Given the description of an element on the screen output the (x, y) to click on. 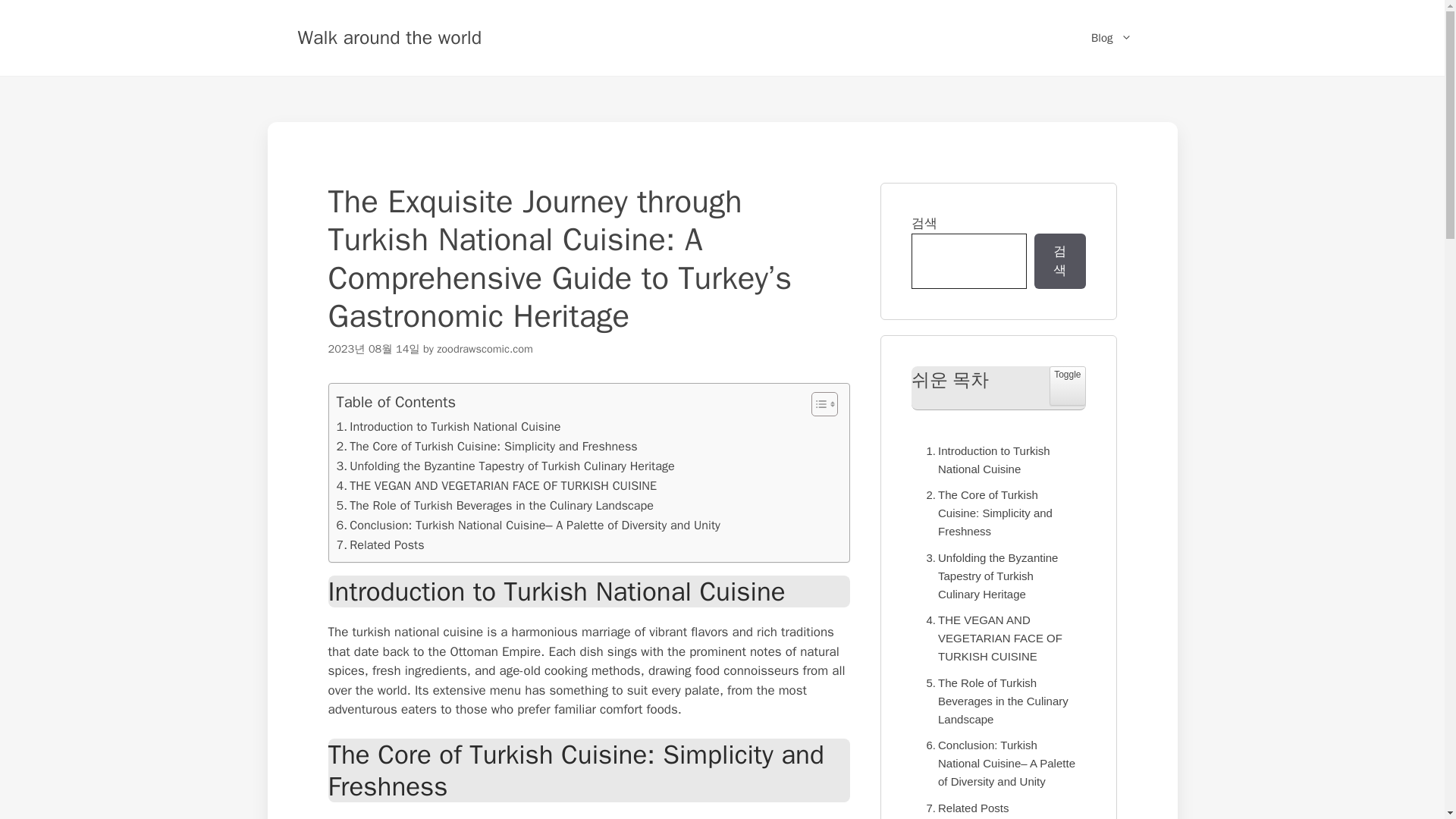
Introduction to Turkish National Cuisine (448, 426)
The Core of Turkish Cuisine: Simplicity and Freshness (998, 513)
THE VEGAN AND VEGETARIAN FACE OF TURKISH CUISINE (497, 485)
Related Posts (963, 808)
Walk around the world (389, 37)
The Role of Turkish Beverages in the Culinary Landscape (494, 505)
The Core of Turkish Cuisine: Simplicity and Freshness (486, 446)
The Core of Turkish Cuisine: Simplicity and Freshness (998, 513)
Related Posts (380, 545)
Related Posts (963, 808)
